Given the description of an element on the screen output the (x, y) to click on. 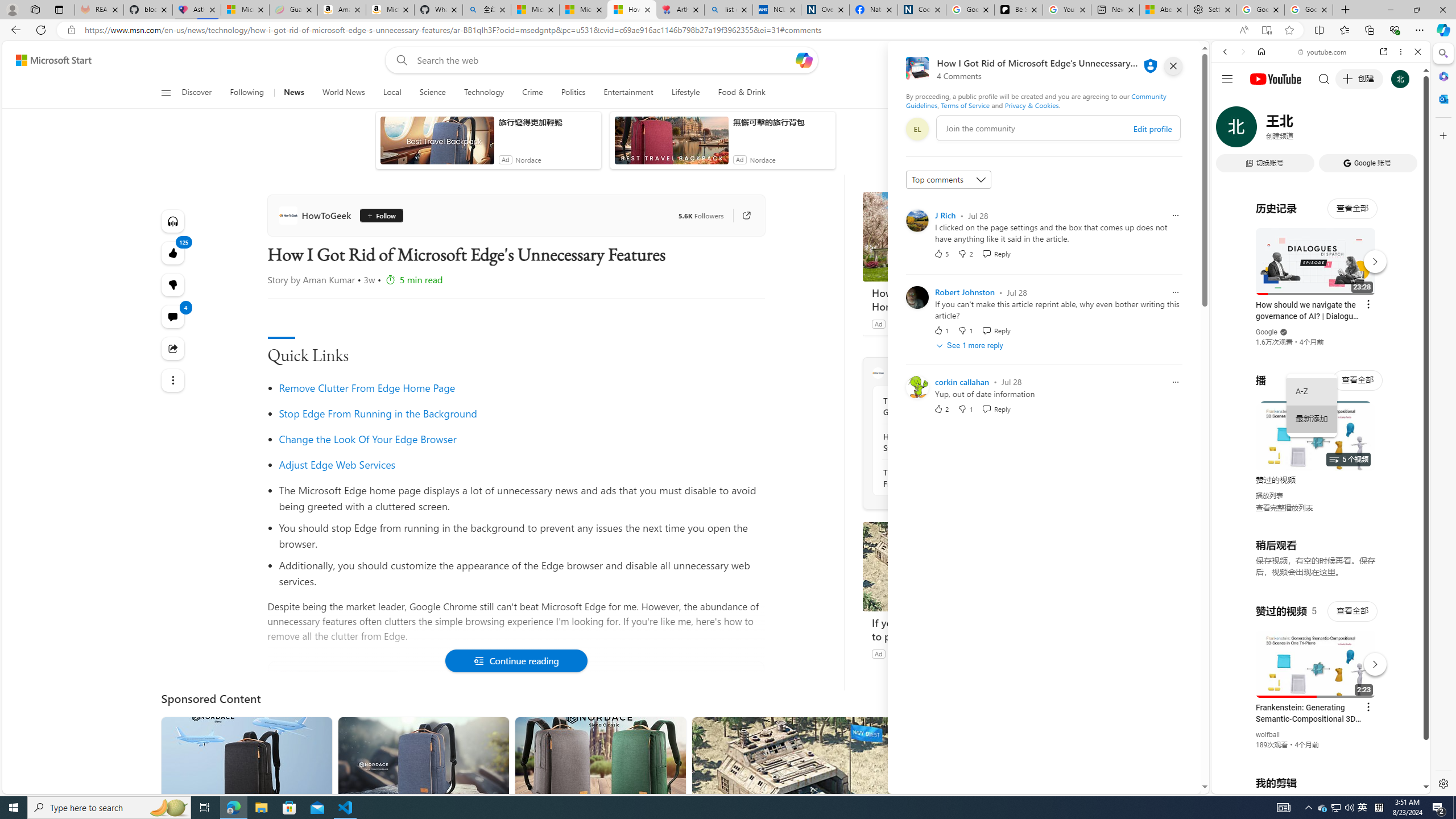
Politics (572, 92)
Search videos from youtube.com (1299, 373)
Close Customize pane (1442, 135)
Ad Choice (1020, 653)
Visit HowToGeek website (1018, 372)
HowToGeek (877, 372)
Stop Edge From Running in the Background (521, 413)
#you (1320, 253)
Adjust Edge Web Services (337, 464)
Open link in new tab (1383, 51)
